Given the description of an element on the screen output the (x, y) to click on. 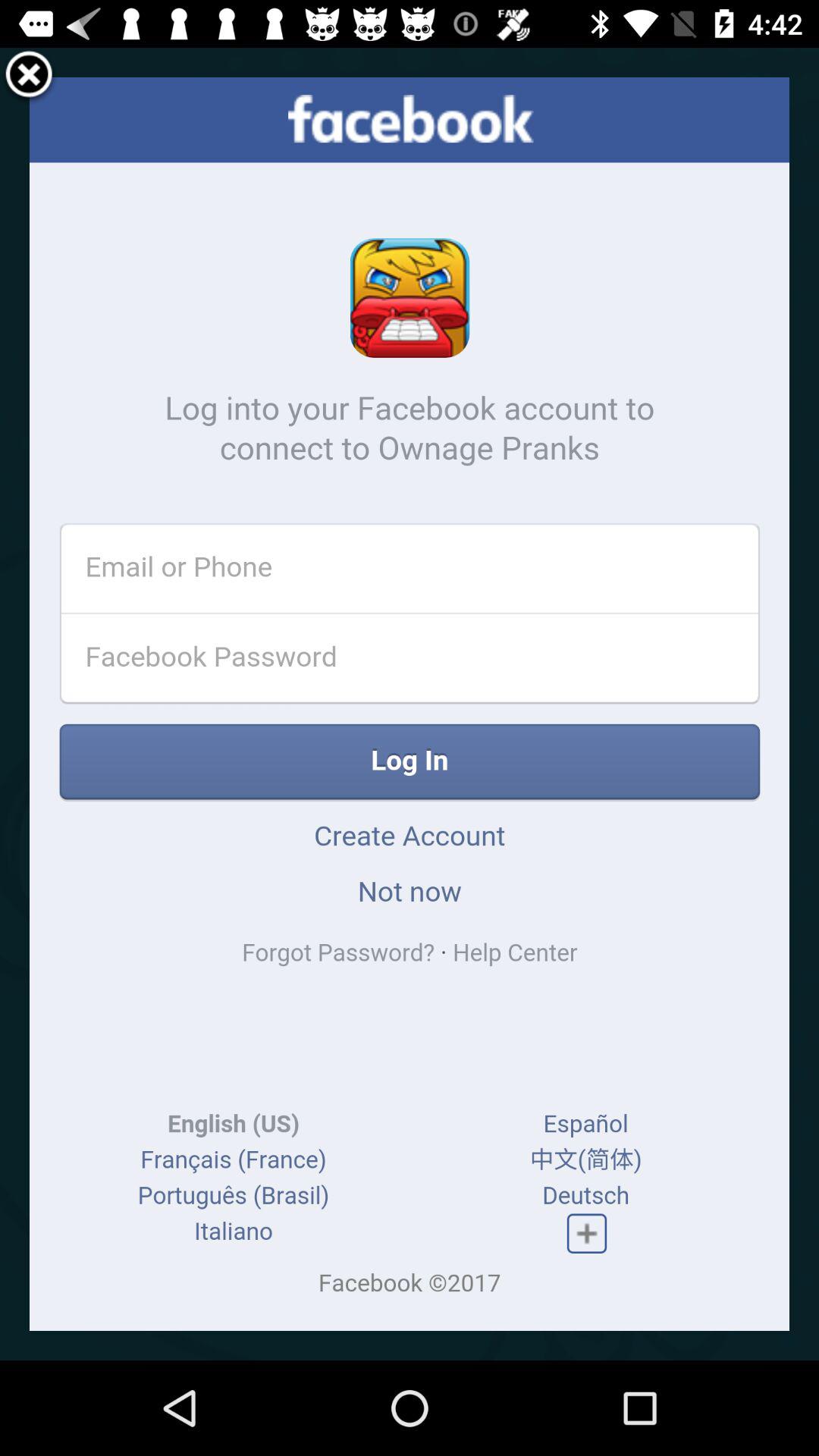
press to close the box (29, 76)
